Given the description of an element on the screen output the (x, y) to click on. 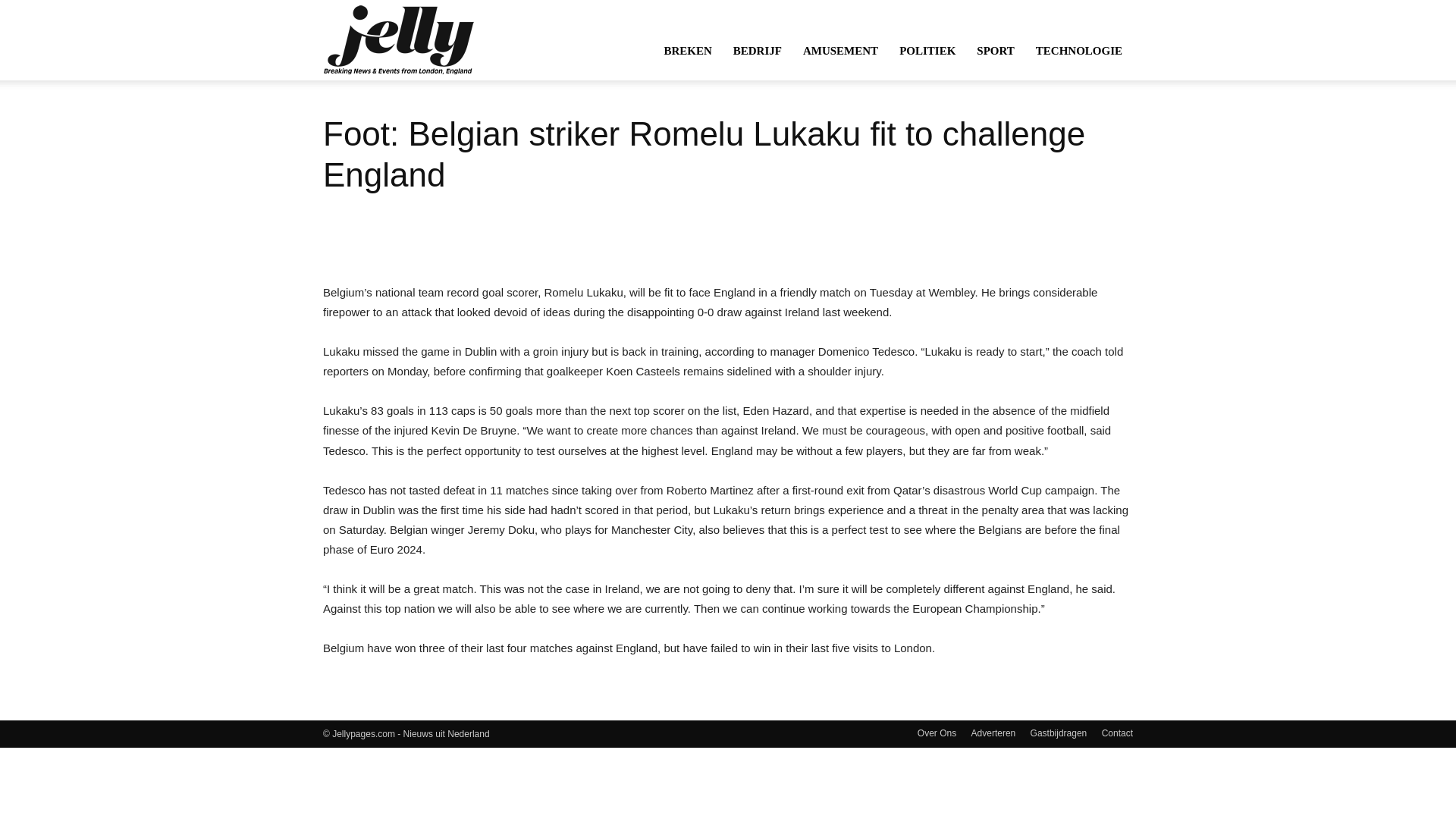
AMUSEMENT (840, 50)
TECHNOLOGIE (1078, 50)
Over Ons (936, 733)
POLITIEK (927, 50)
Gastbijdragen (1058, 733)
BEDRIJF (757, 50)
BREKEN (687, 50)
Jelly Nieuws (398, 39)
SPORT (995, 50)
Adverteren (993, 733)
Contact (1117, 733)
